Given the description of an element on the screen output the (x, y) to click on. 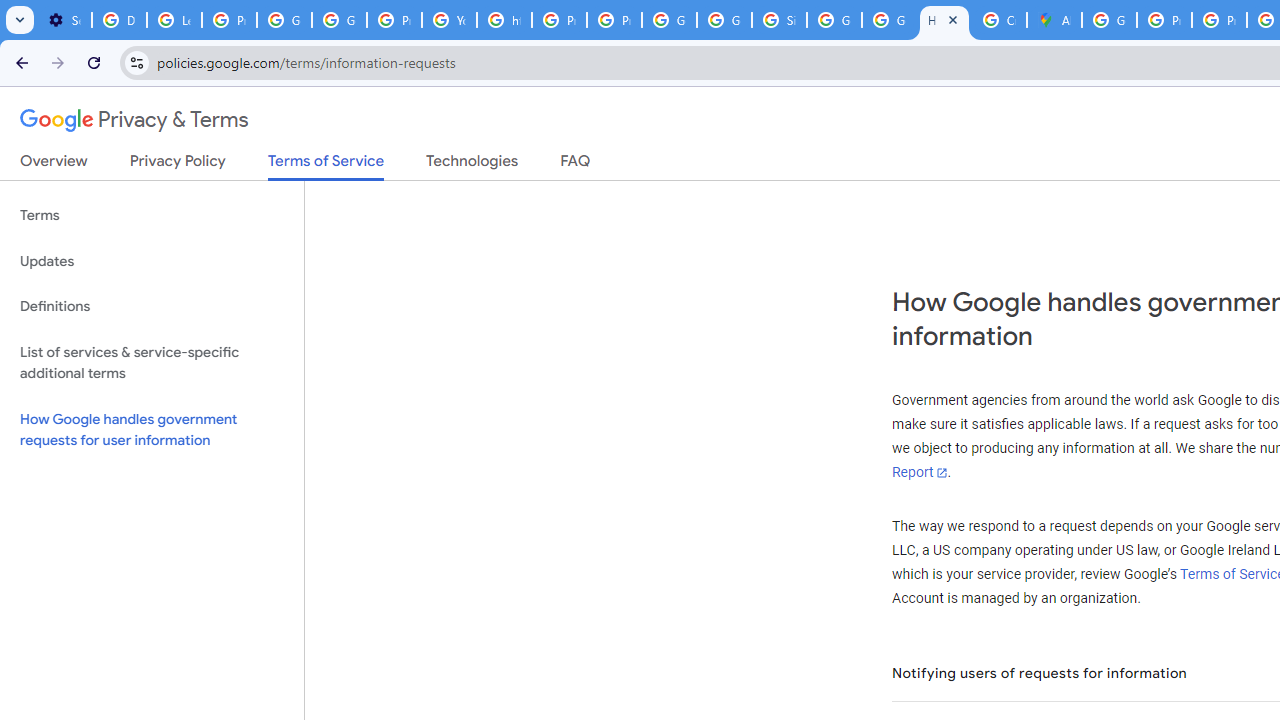
Settings - On startup (64, 20)
Sign in - Google Accounts (779, 20)
Privacy Help Center - Policies Help (1163, 20)
Delete photos & videos - Computer - Google Photos Help (119, 20)
